Given the description of an element on the screen output the (x, y) to click on. 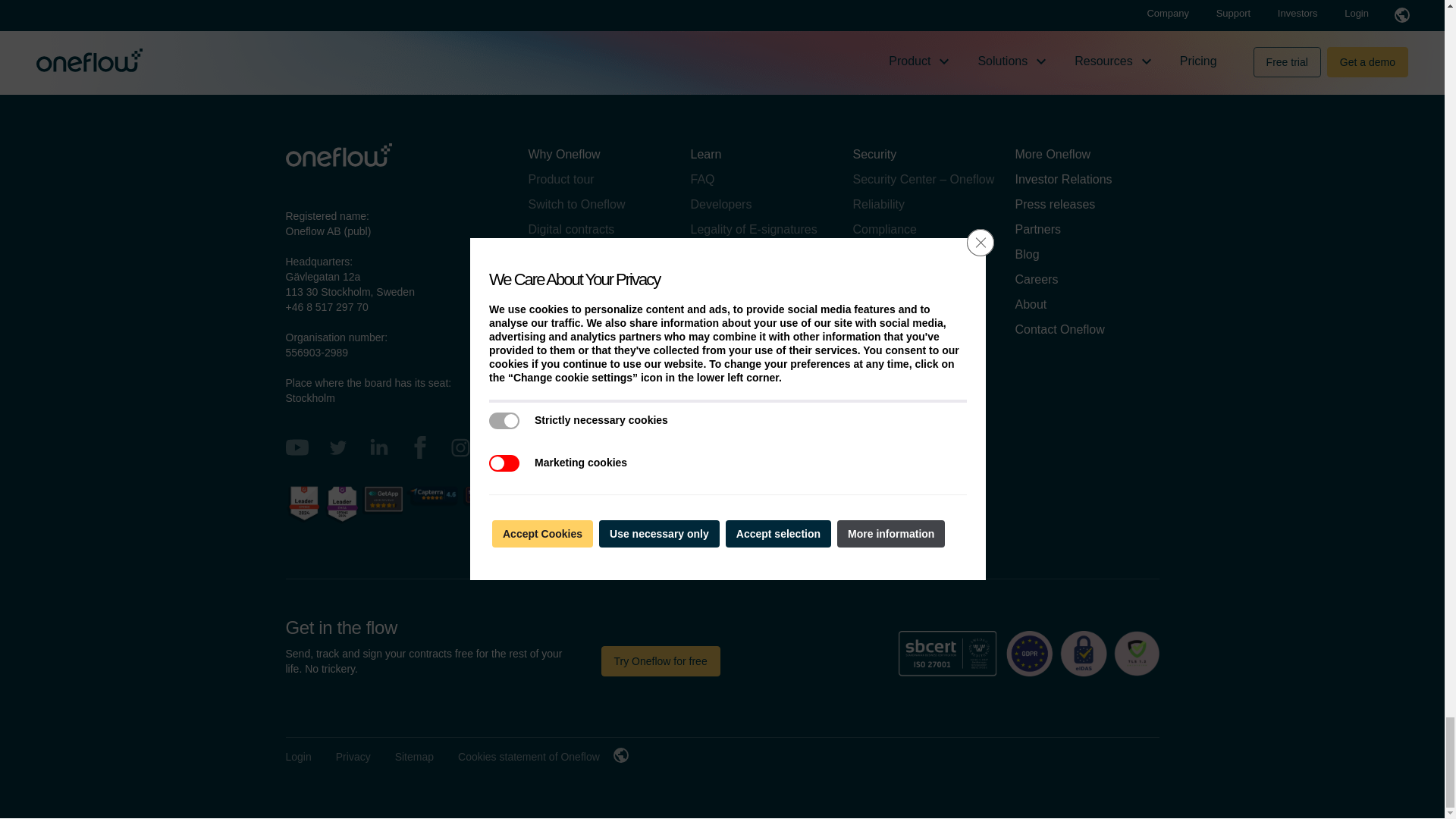
Select Language (620, 755)
